Given the description of an element on the screen output the (x, y) to click on. 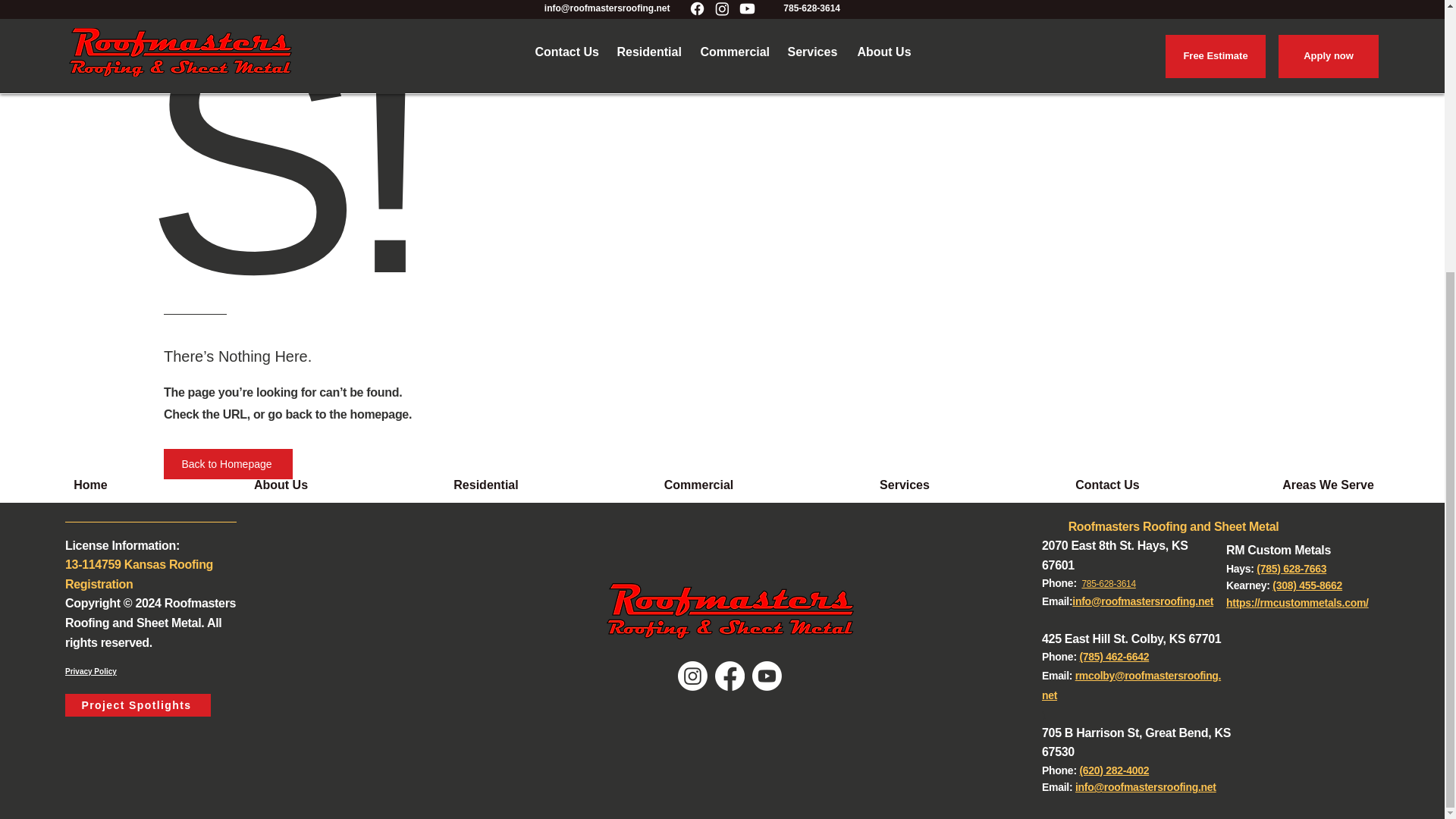
About Us (280, 485)
Home (90, 485)
Privacy Policy (90, 671)
Project Spotlights (138, 704)
785-628-3614 (1108, 583)
Back to Homepage (227, 463)
